Given the description of an element on the screen output the (x, y) to click on. 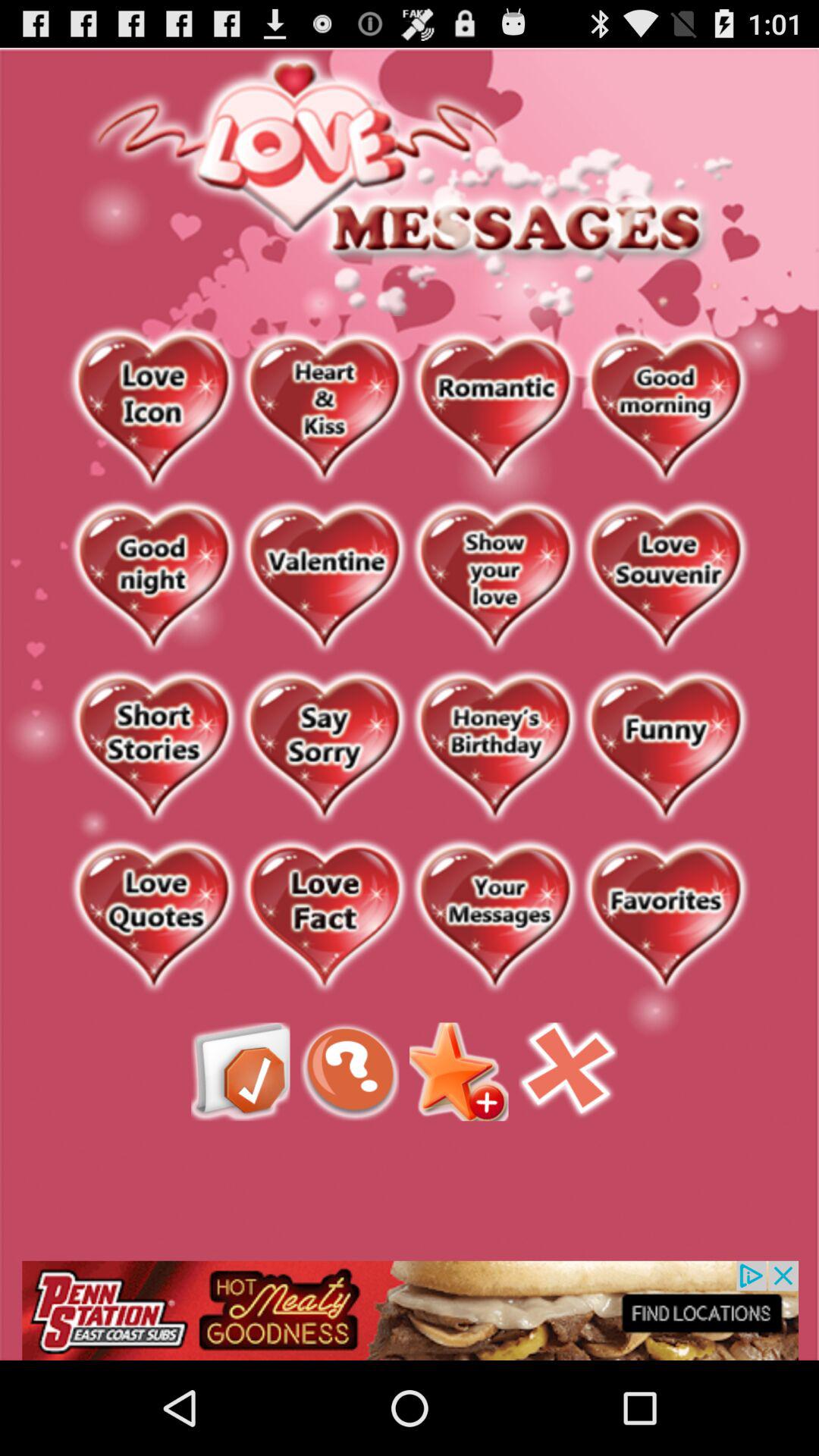
show your love (494, 578)
